Given the description of an element on the screen output the (x, y) to click on. 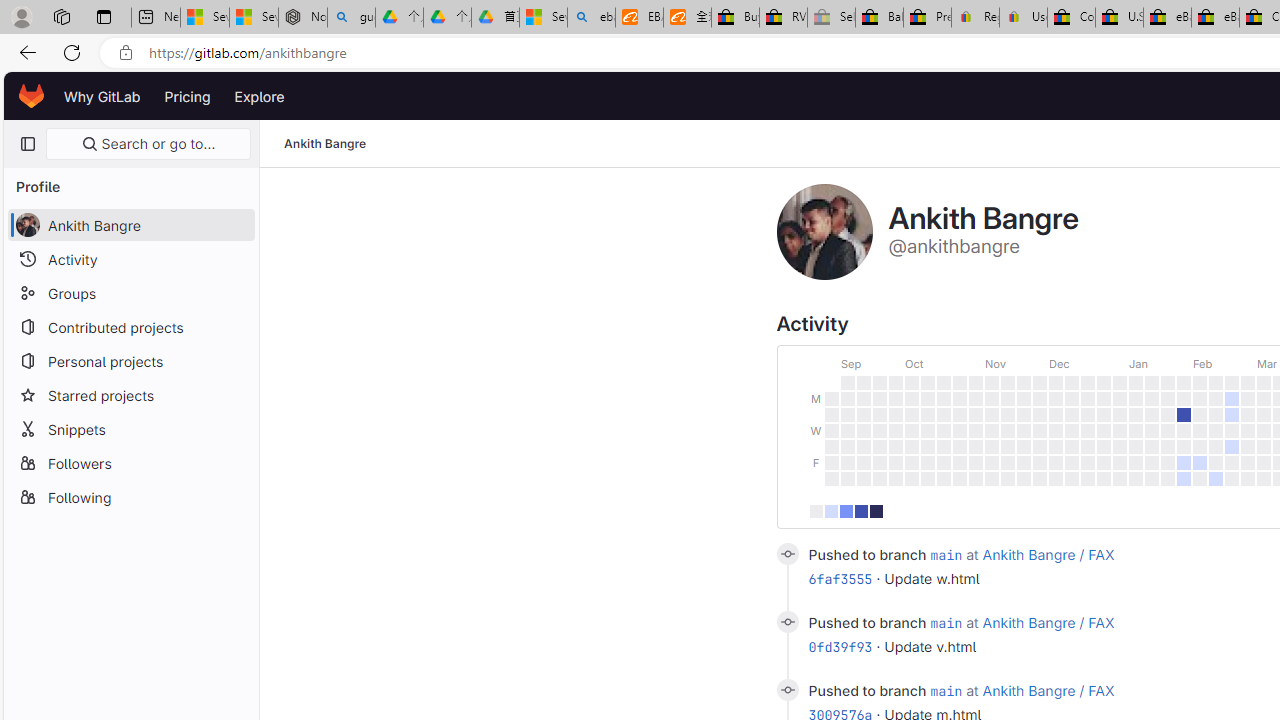
Sell worldwide with eBay - Sleeping (831, 17)
User profile picture (823, 232)
ebay - Search (591, 17)
Why GitLab (102, 95)
